Given the description of an element on the screen output the (x, y) to click on. 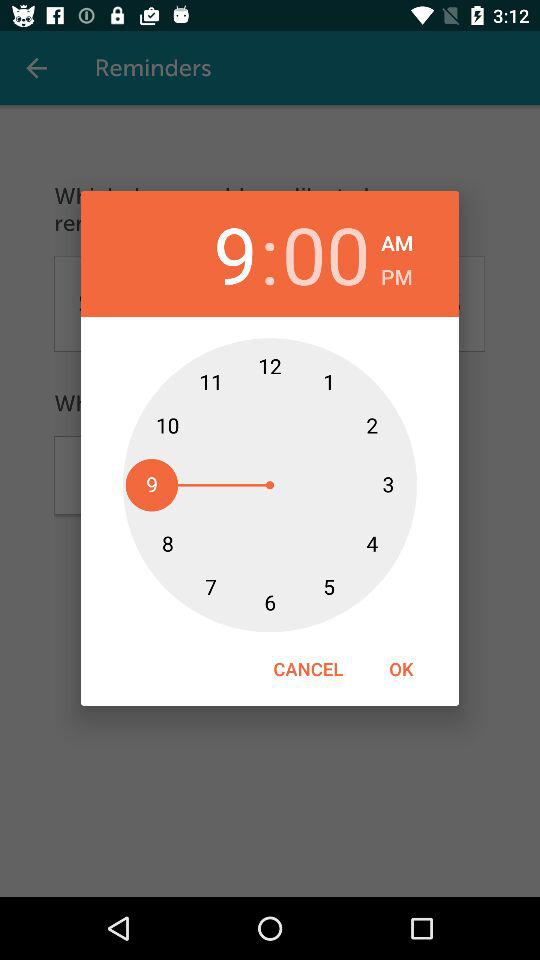
open icon next to : (213, 253)
